Given the description of an element on the screen output the (x, y) to click on. 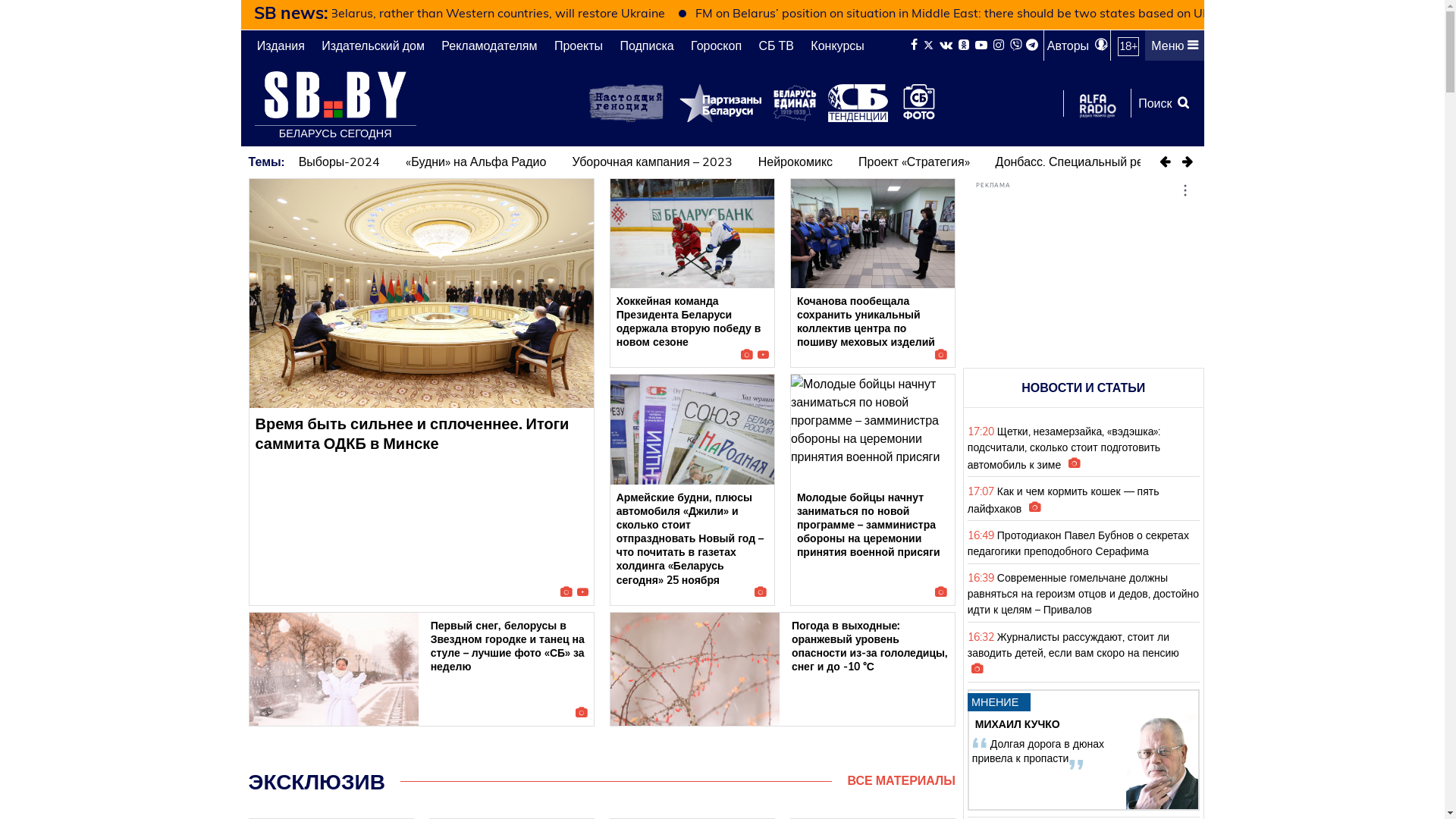
SB news: Element type: text (290, 12)
